Given the description of an element on the screen output the (x, y) to click on. 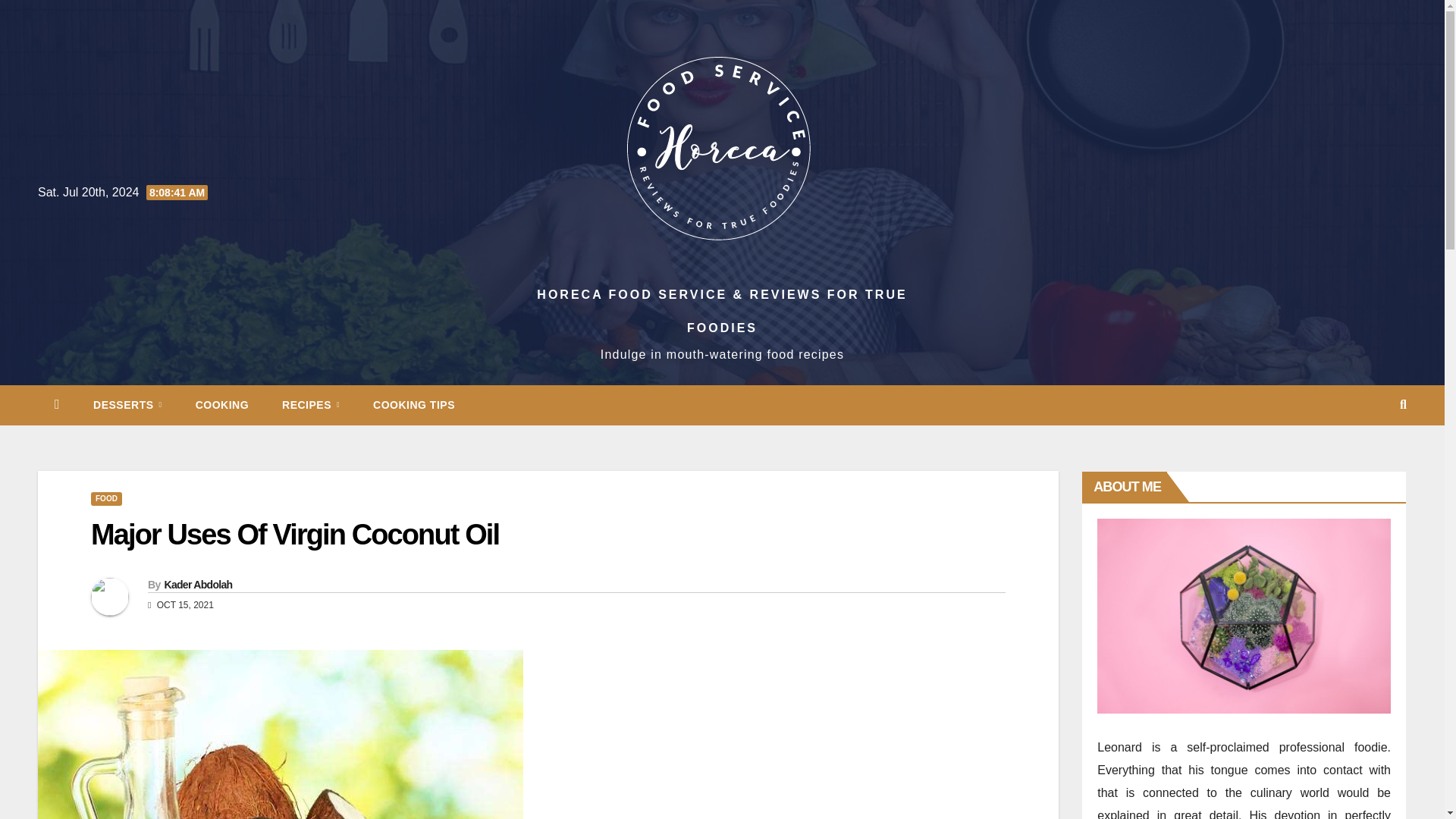
FOOD (106, 499)
Kader Abdolah (197, 584)
COOKING (221, 404)
Major Uses Of Virgin Coconut Oil (294, 534)
Recipes (310, 404)
Permalink to: Major Uses Of Virgin Coconut Oil (294, 534)
Cooking Tips (413, 404)
DESSERTS (128, 404)
RECIPES (310, 404)
COOKING TIPS (413, 404)
Cooking (221, 404)
Desserts (128, 404)
